Given the description of an element on the screen output the (x, y) to click on. 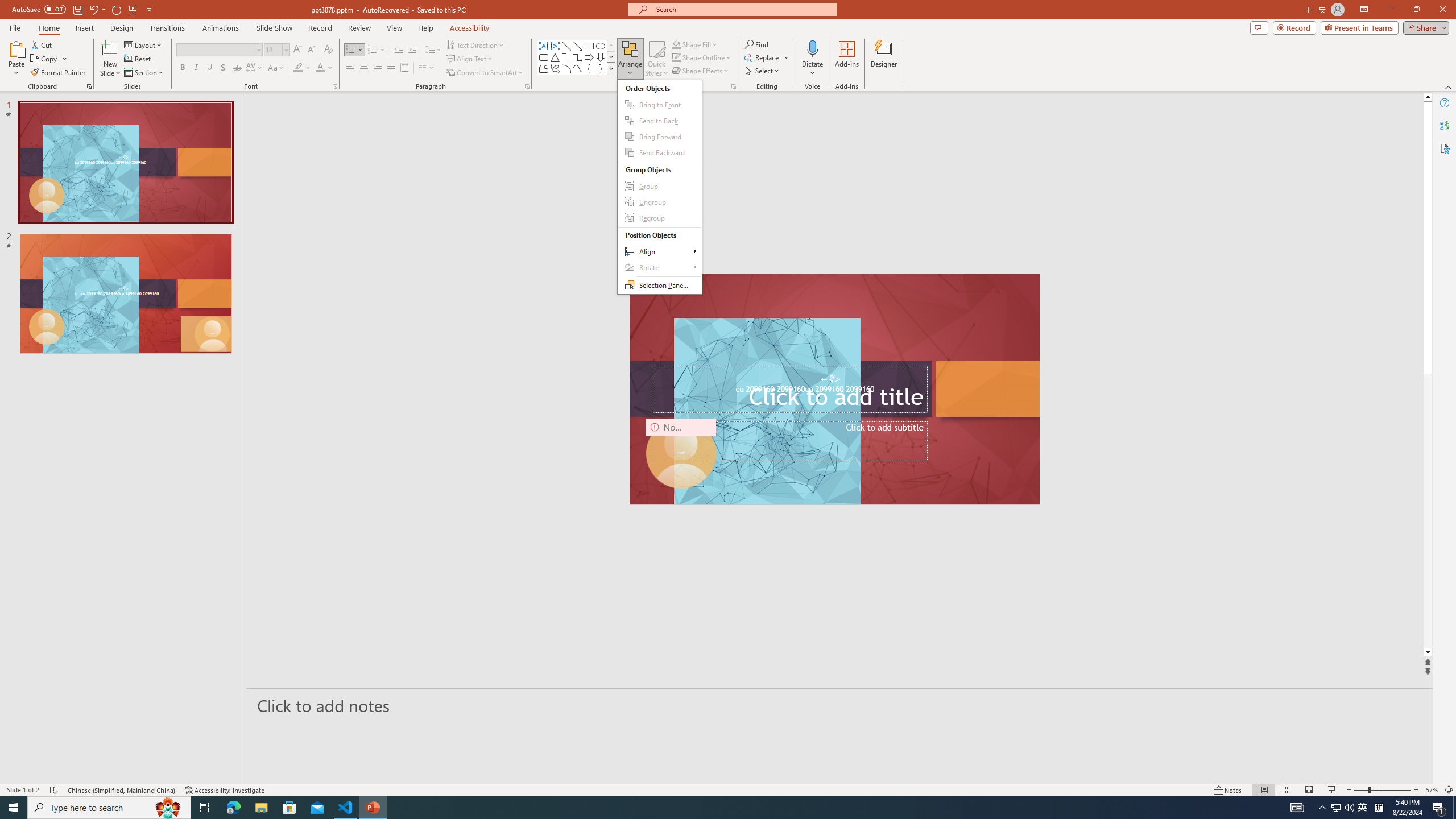
Line Arrow (577, 45)
Right Brace (600, 68)
Find... (756, 44)
Rectangle: Rounded Corners (543, 57)
Distributed (404, 67)
